Given the description of an element on the screen output the (x, y) to click on. 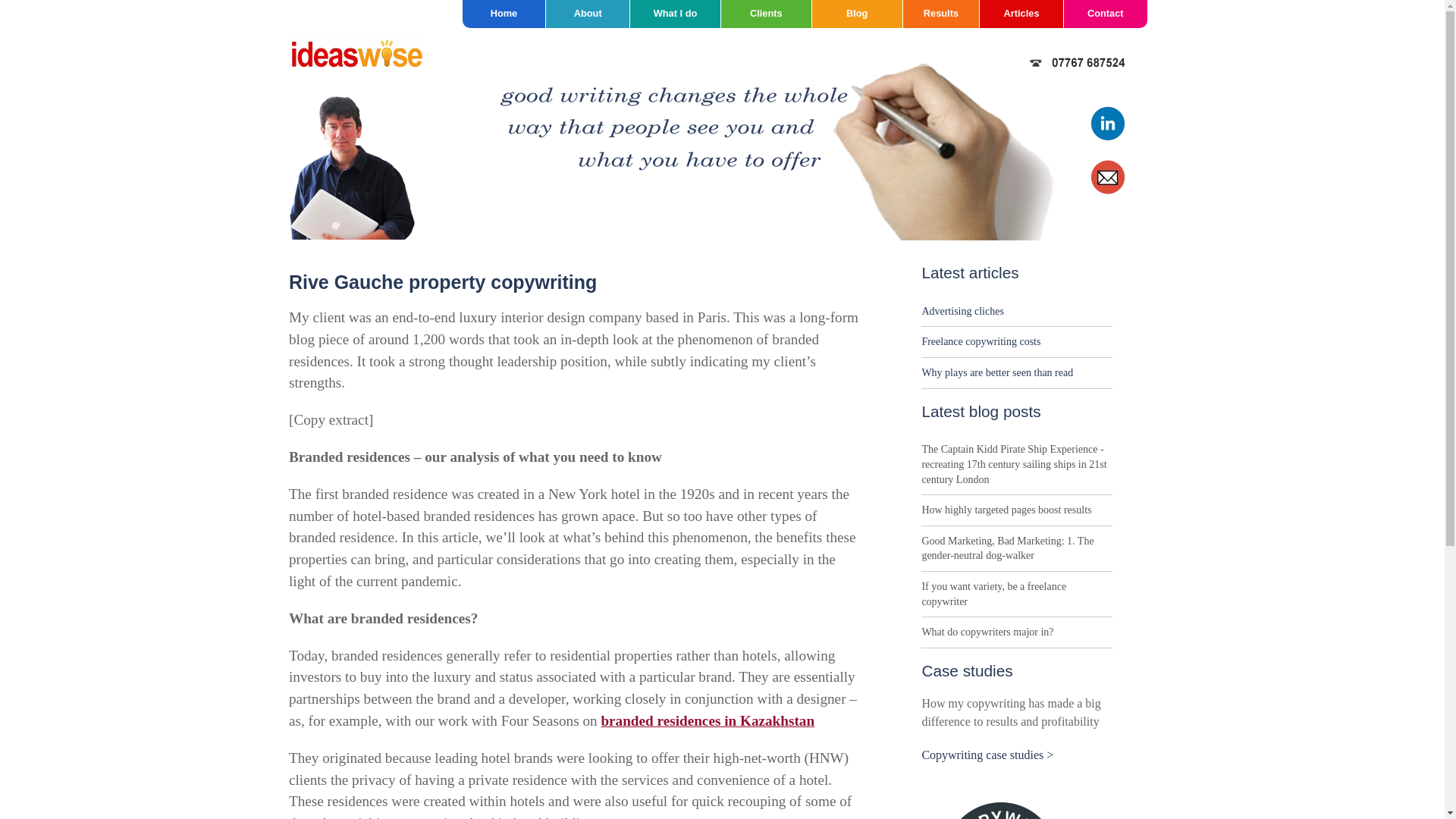
What I do (675, 13)
Clients (765, 13)
Contact (1105, 13)
Articles (1020, 13)
Follow me on LinkedIn (1108, 137)
Results (940, 13)
Blog (857, 13)
Home (504, 13)
About (587, 13)
branded residences in Kazakhstan (706, 720)
